Given the description of an element on the screen output the (x, y) to click on. 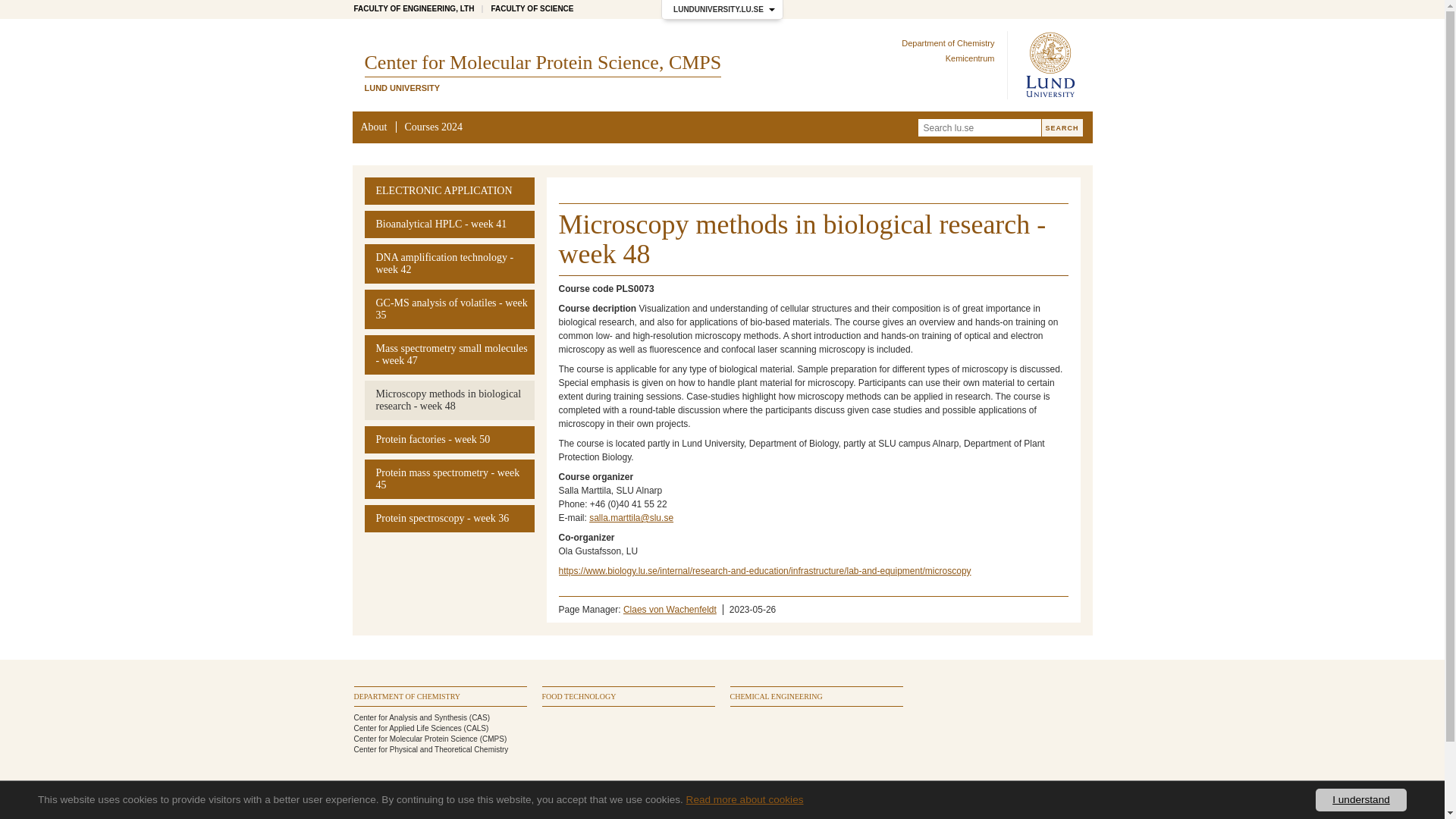
Search (1061, 127)
